Given the description of an element on the screen output the (x, y) to click on. 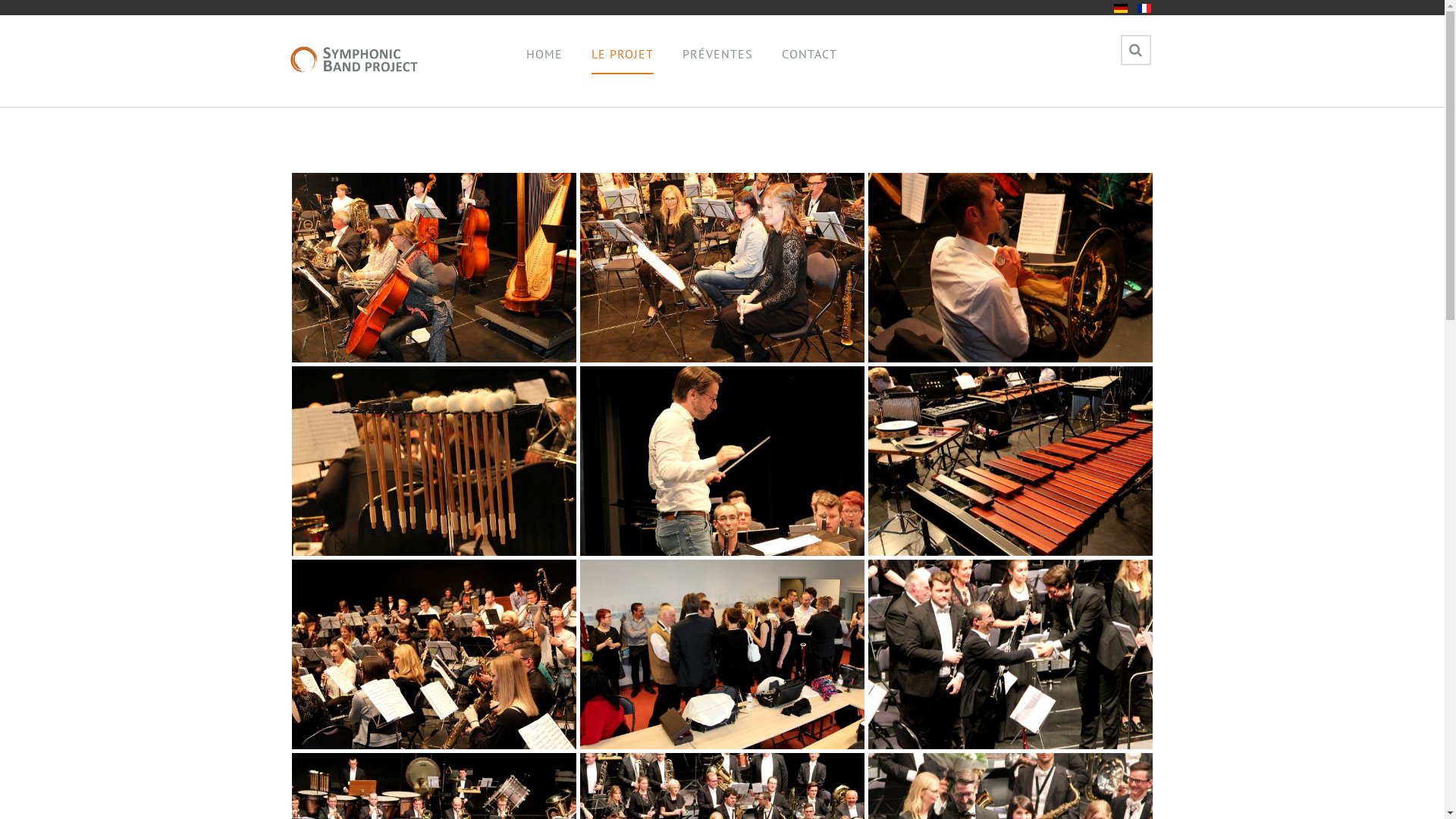
CONTACT Element type: text (809, 53)
Deutsch (Deutschland) Element type: hover (1119, 7)
LE PROJET Element type: text (622, 54)
HOME Element type: text (544, 53)
